Given the description of an element on the screen output the (x, y) to click on. 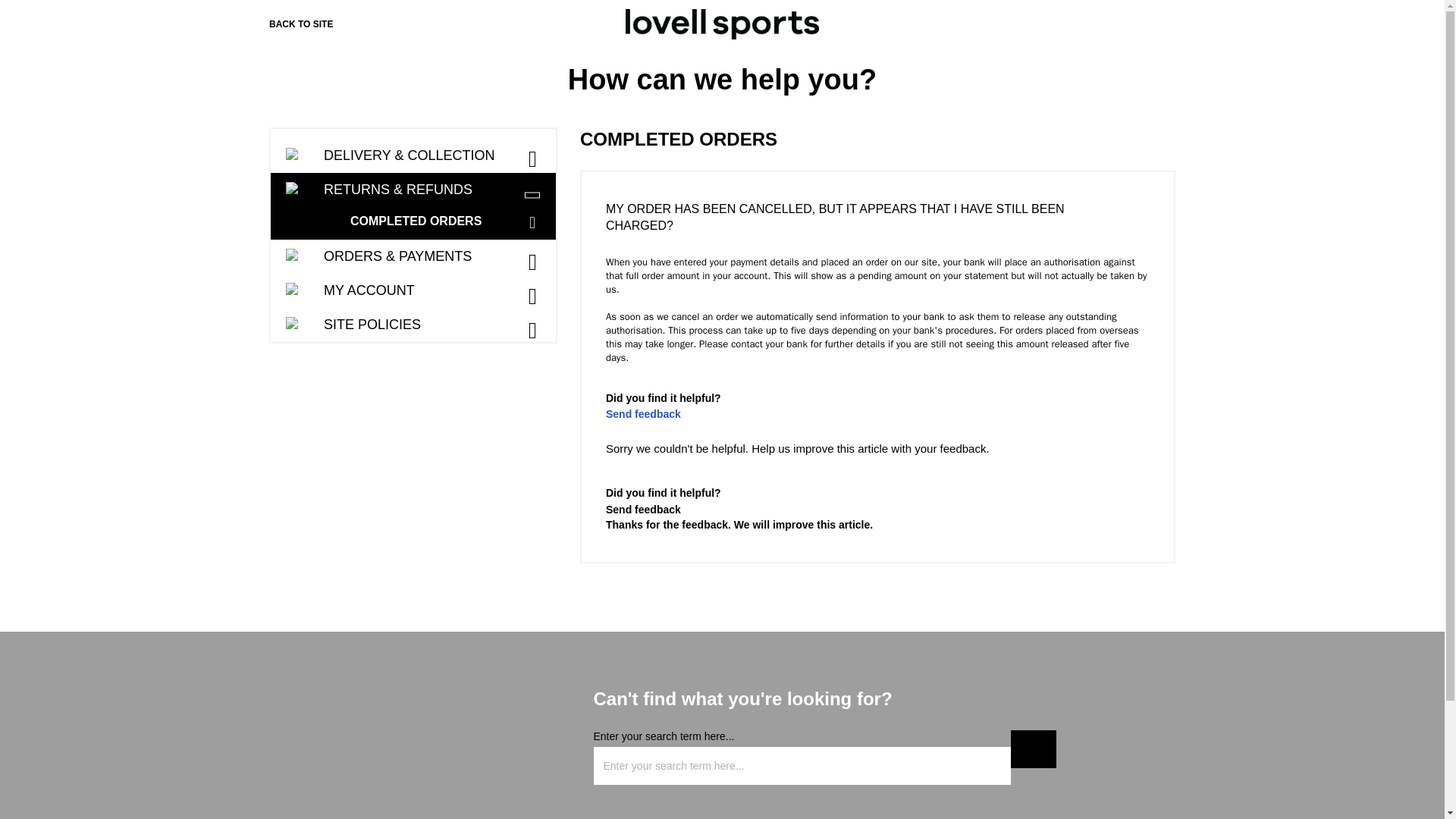
COMPLETED ORDERS (449, 221)
Send feedback (643, 413)
SITE POLICIES (413, 324)
Send feedback (643, 509)
BACK TO SITE (301, 23)
MY ACCOUNT (413, 290)
